Given the description of an element on the screen output the (x, y) to click on. 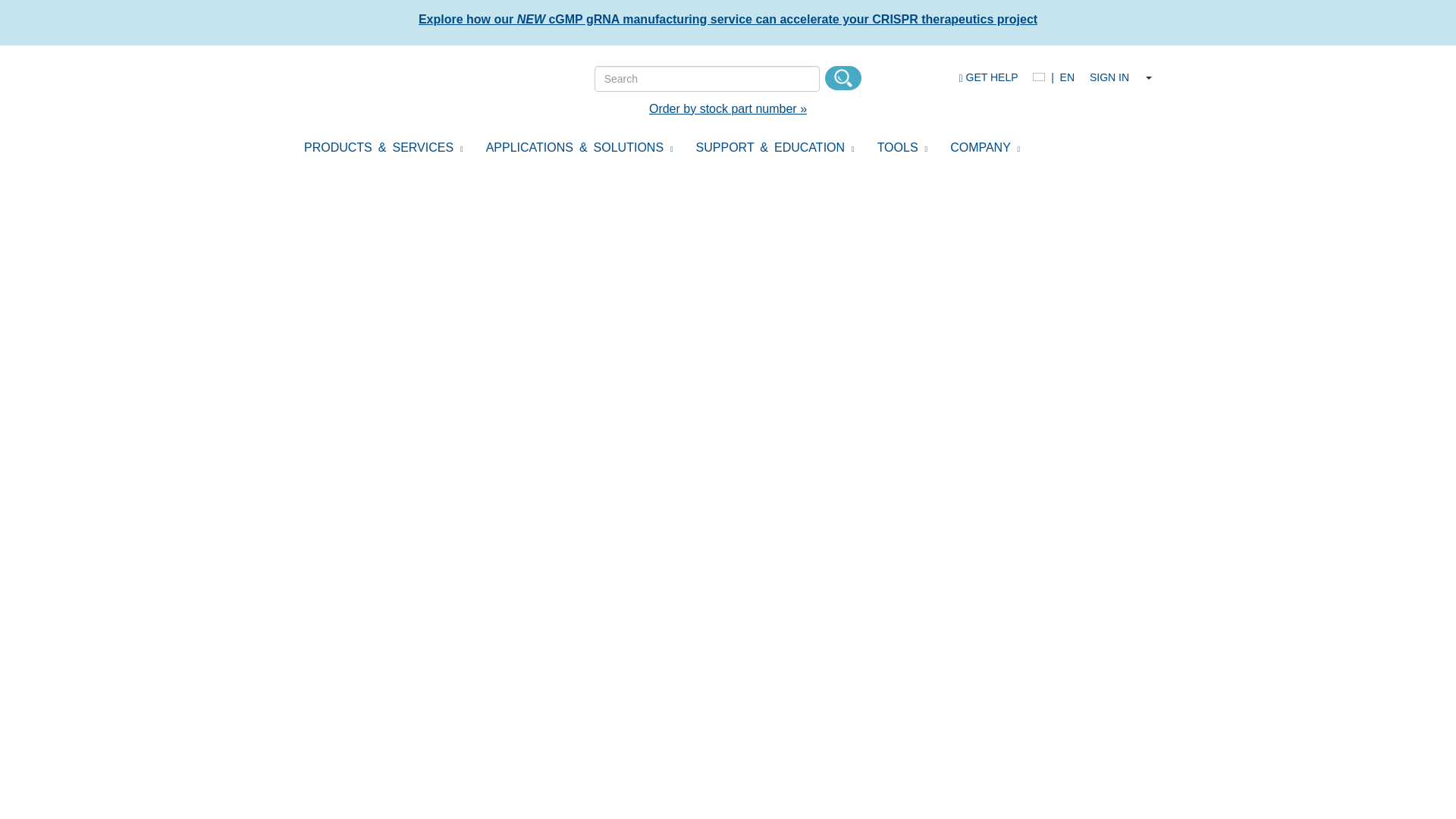
SIGN IN (1109, 77)
Search input (707, 78)
Integrated DNA Technologies (387, 86)
GET HELP (987, 77)
